Given the description of an element on the screen output the (x, y) to click on. 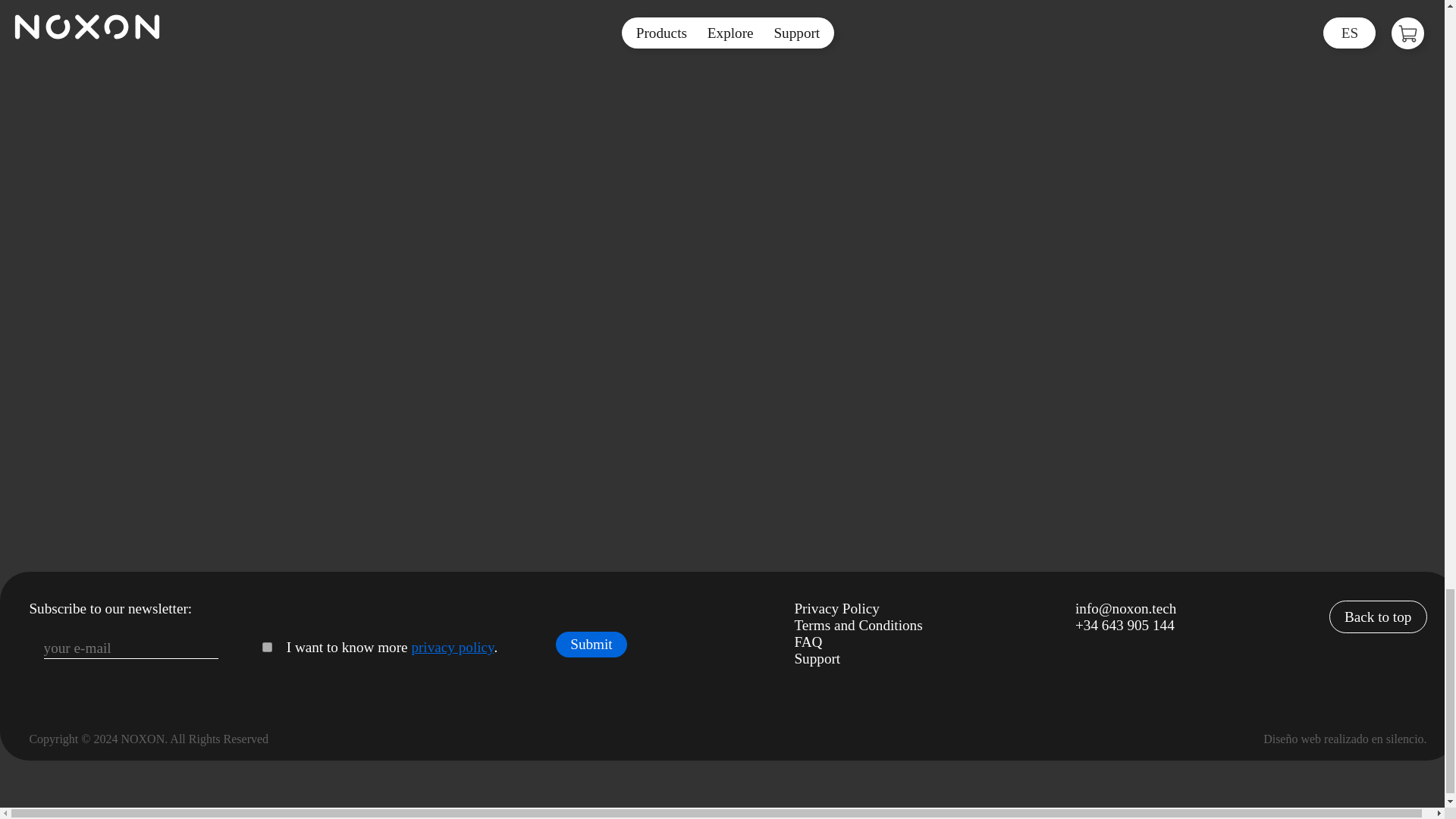
Privacy Policy (836, 608)
Back (735, 206)
Back (65, 205)
1 (267, 646)
Terms and Conditions (857, 625)
YouTube video player (742, 40)
Mod Slider (444, 108)
Submit (591, 644)
Support (816, 658)
privacy policy (451, 647)
